Given the description of an element on the screen output the (x, y) to click on. 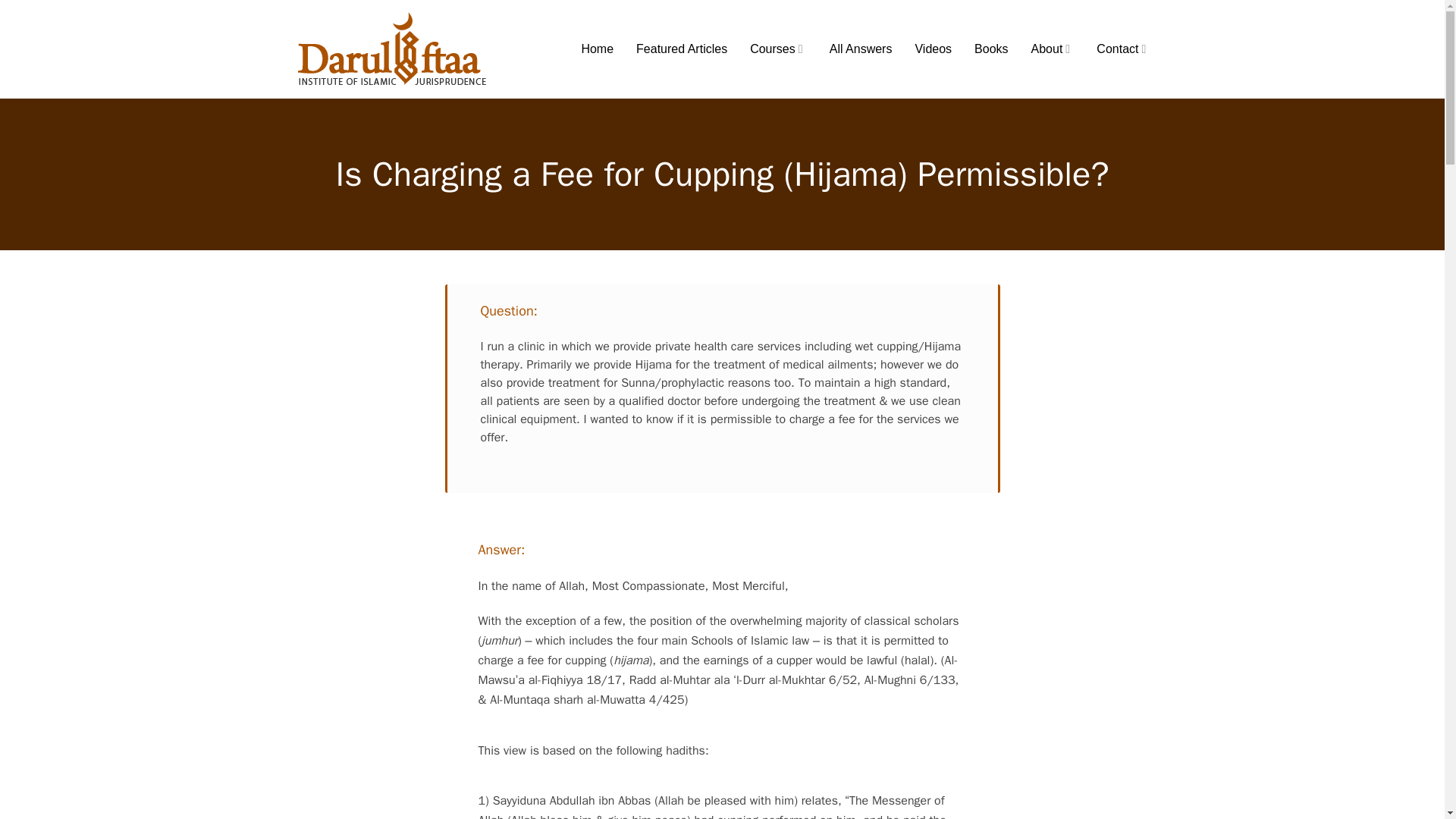
Videos (933, 48)
Courses (777, 48)
About (1052, 48)
All Answers (860, 48)
Featured Articles (681, 48)
Contact (1123, 48)
